Given the description of an element on the screen output the (x, y) to click on. 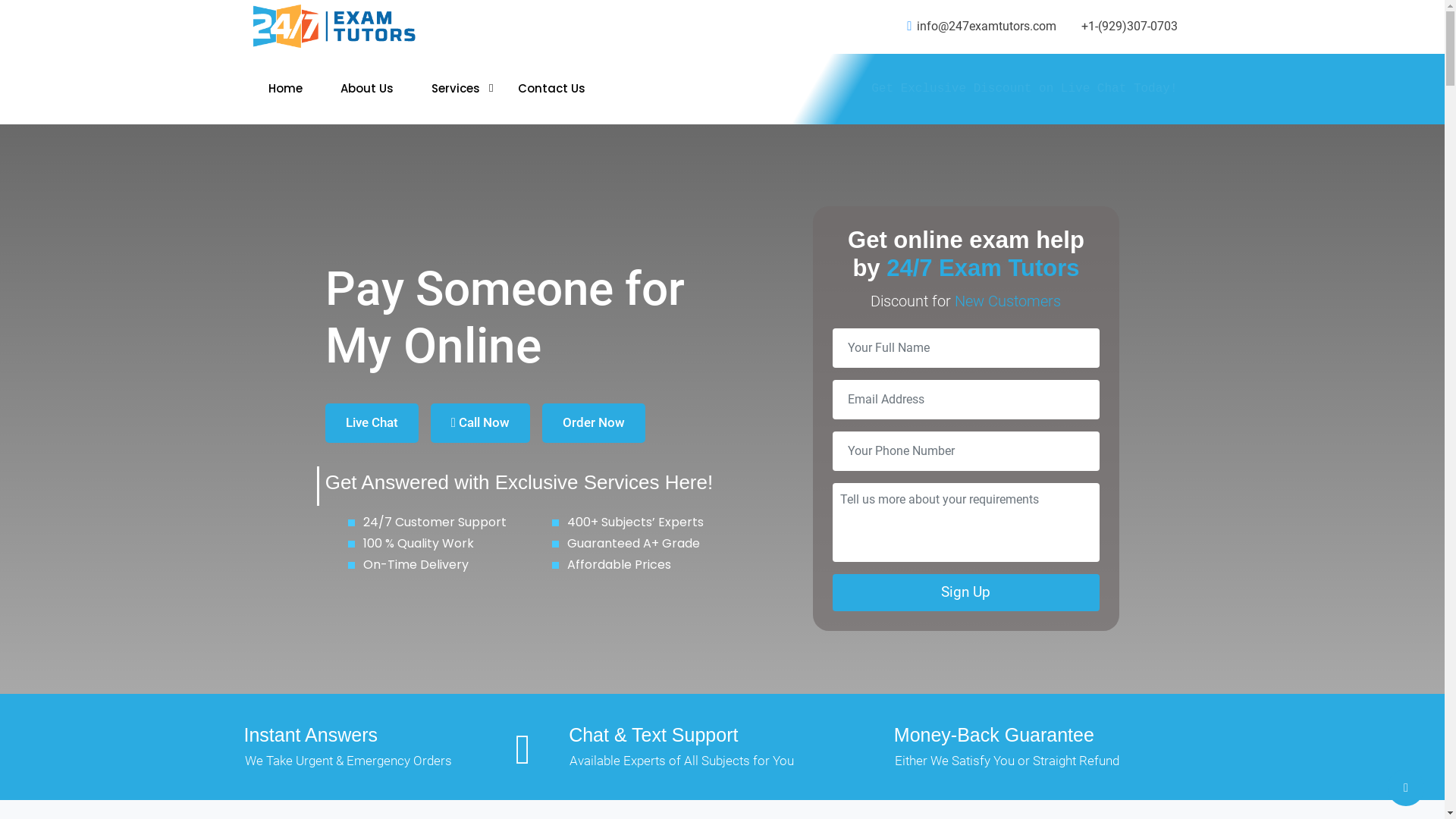
Home Element type: text (285, 88)
Contact Us Element type: text (550, 88)
+1-(929)307-0703 Element type: text (1128, 26)
Services Element type: text (454, 88)
Sign Up Element type: text (966, 592)
info@247examtutors.com Element type: text (981, 26)
About Us Element type: text (365, 88)
Call Now Element type: text (480, 422)
Order Now Element type: text (593, 422)
Live Chat Element type: text (371, 422)
